Given the description of an element on the screen output the (x, y) to click on. 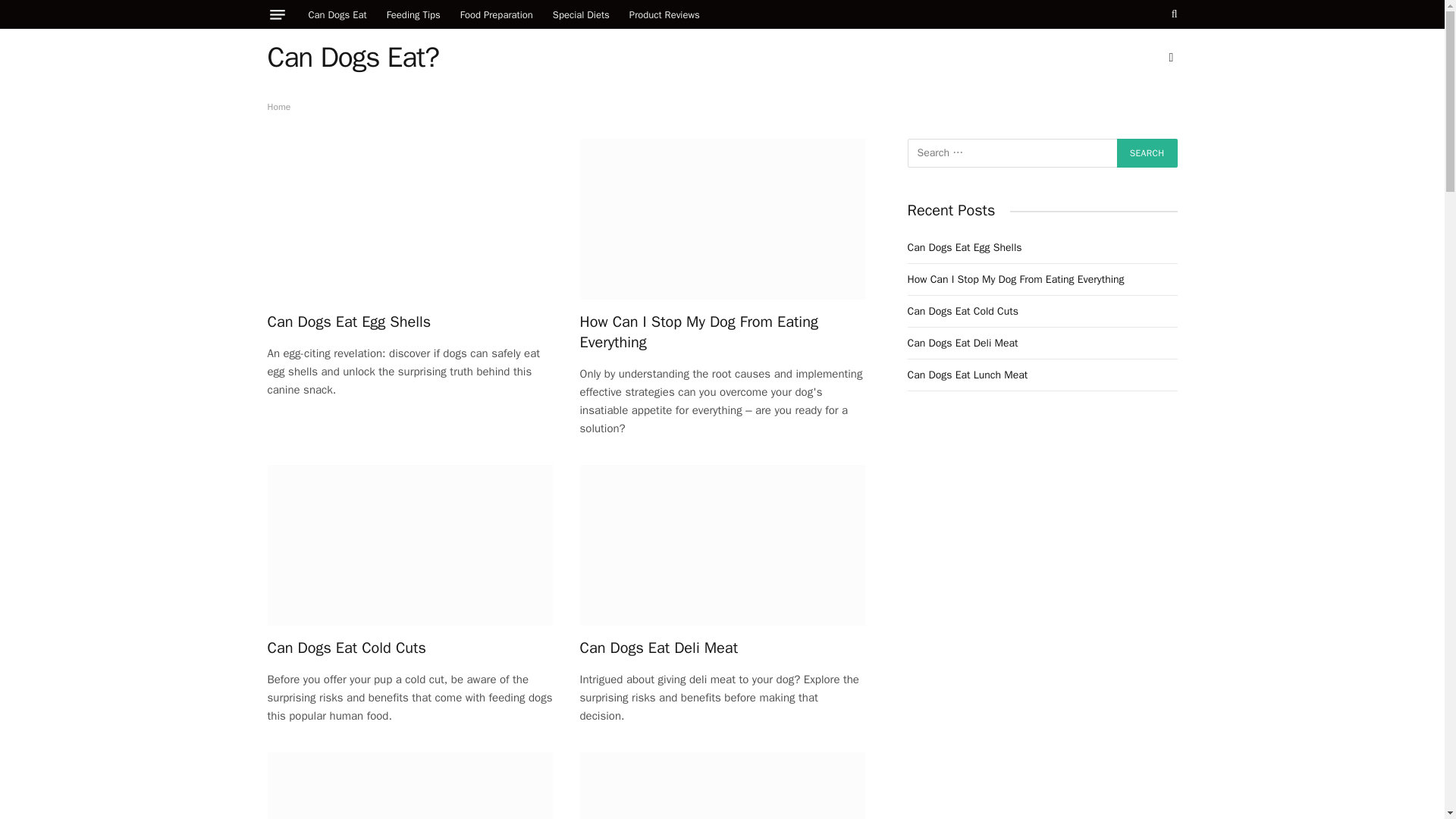
Search (1146, 152)
Product Reviews (665, 14)
Special Diets (581, 14)
Food Preparation (496, 14)
Can Dogs Eat Cold Cuts (408, 648)
Can Dogs Eat Deli Meat (721, 648)
Can Dogs Eat? (352, 57)
Search (1146, 152)
Can Dogs Eat Egg Shells (408, 322)
Can Dogs Eat Cold Cuts (408, 545)
